Given the description of an element on the screen output the (x, y) to click on. 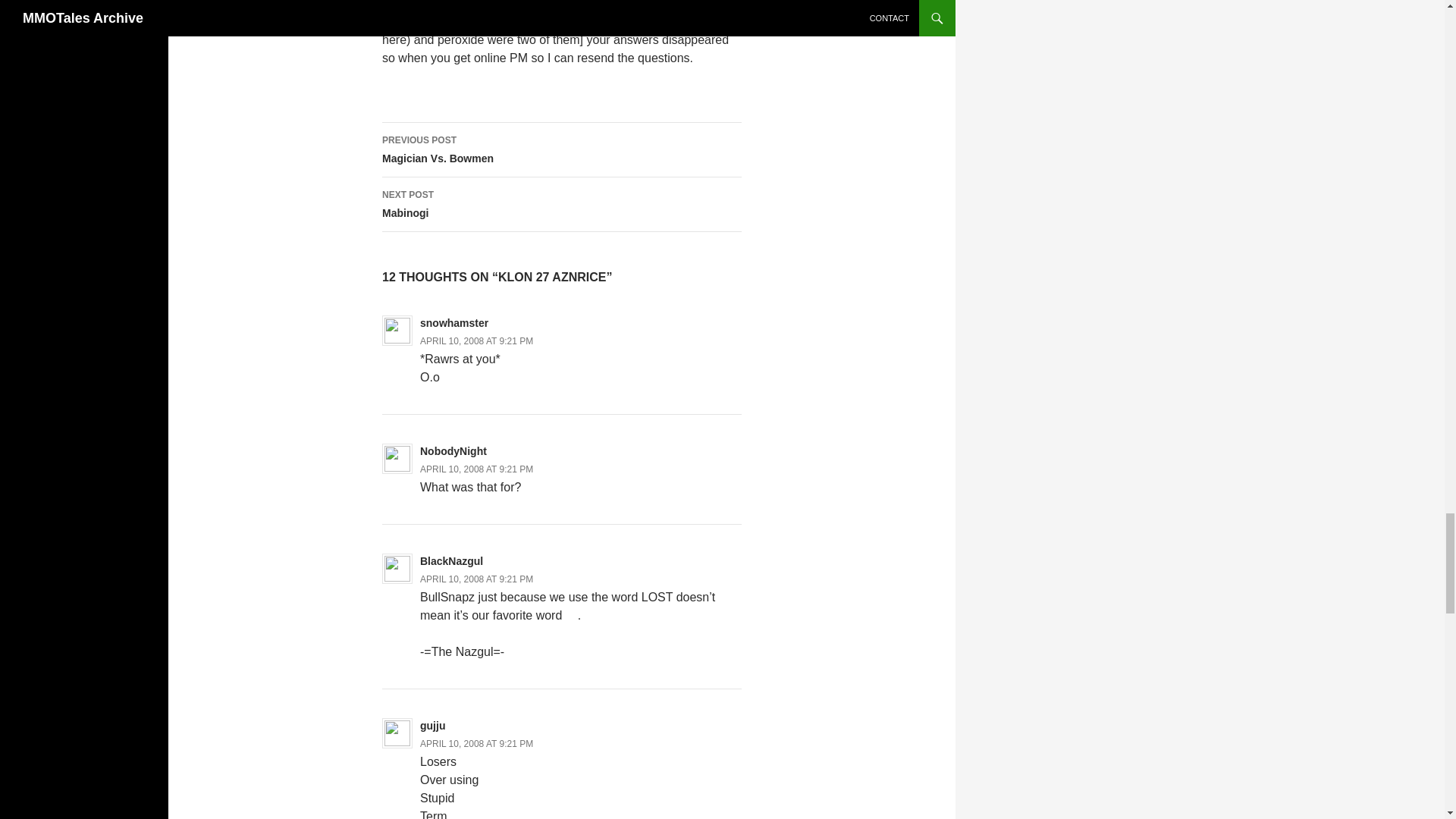
APRIL 10, 2008 AT 9:21 PM (561, 149)
APRIL 10, 2008 AT 9:21 PM (476, 743)
APRIL 10, 2008 AT 9:21 PM (476, 579)
APRIL 10, 2008 AT 9:21 PM (561, 204)
